Given the description of an element on the screen output the (x, y) to click on. 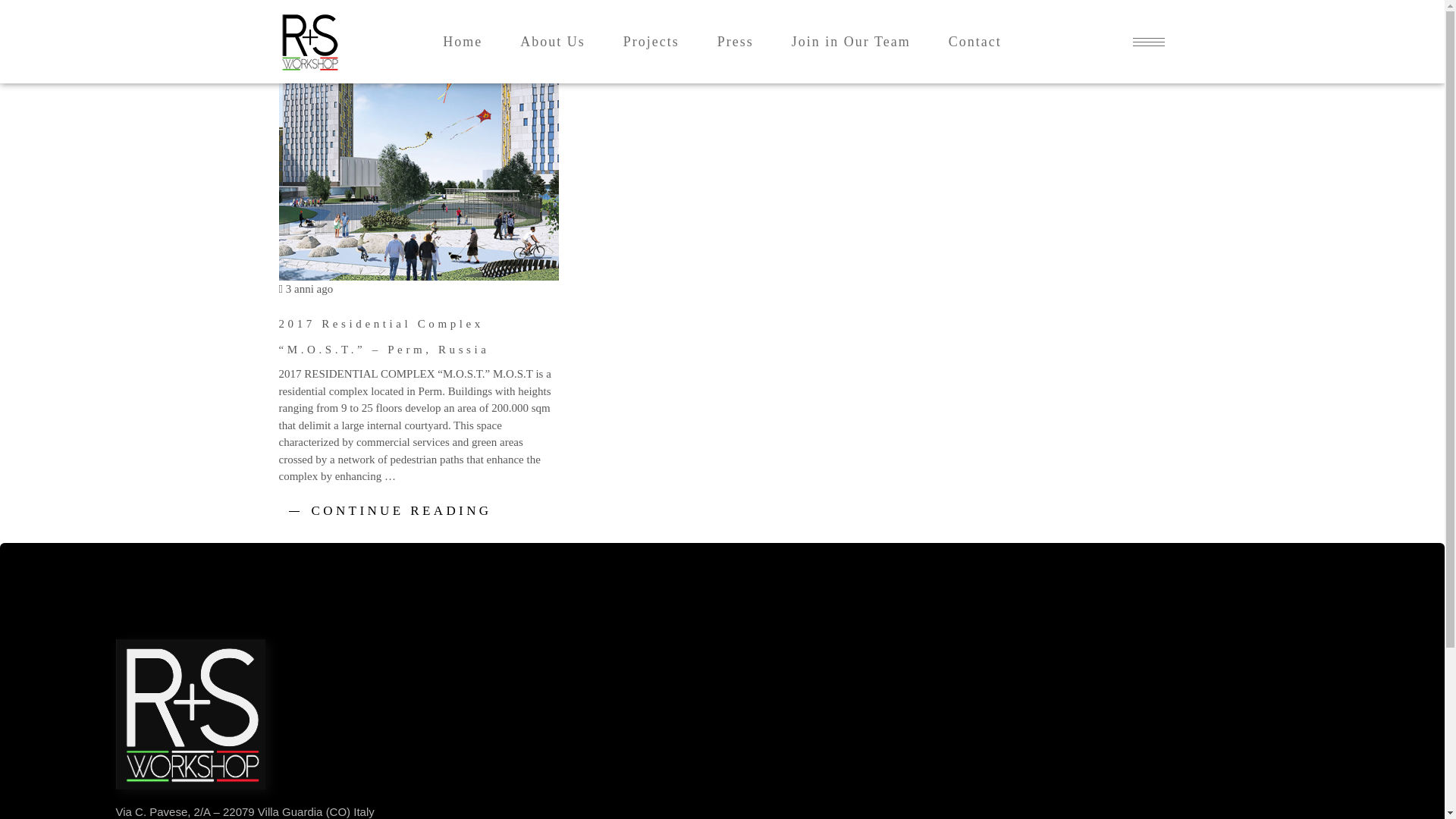
Contact (975, 40)
CONTINUE READING (401, 510)
Press (735, 40)
About Us (552, 40)
Home (461, 40)
Projects (651, 40)
3 anni ago (306, 288)
Join in Our Team (851, 40)
